Given the description of an element on the screen output the (x, y) to click on. 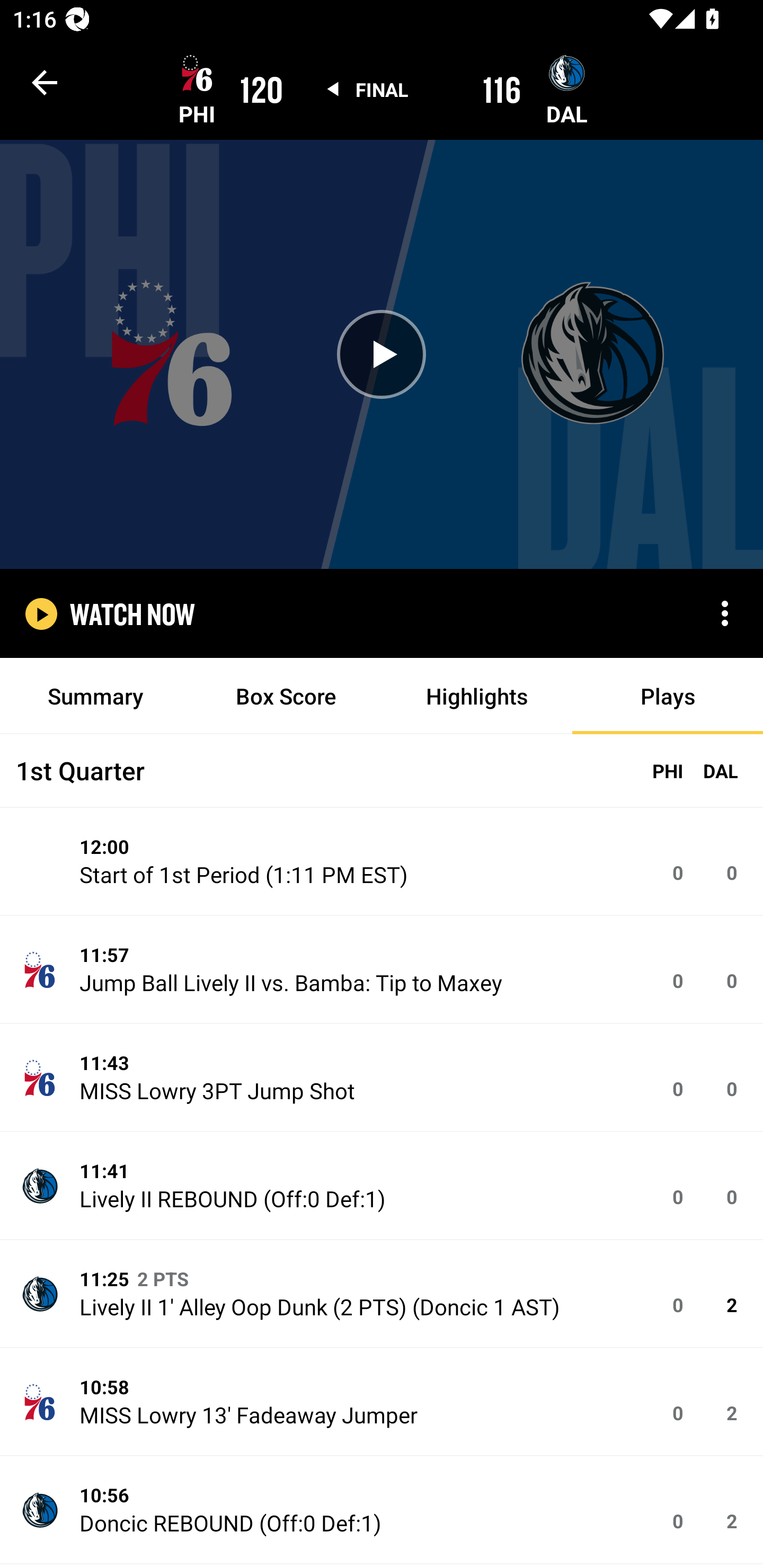
Navigate up (44, 82)
More options (724, 613)
WATCH NOW (132, 613)
Summary (95, 695)
Box Score (285, 695)
Highlights (476, 695)
